Given the description of an element on the screen output the (x, y) to click on. 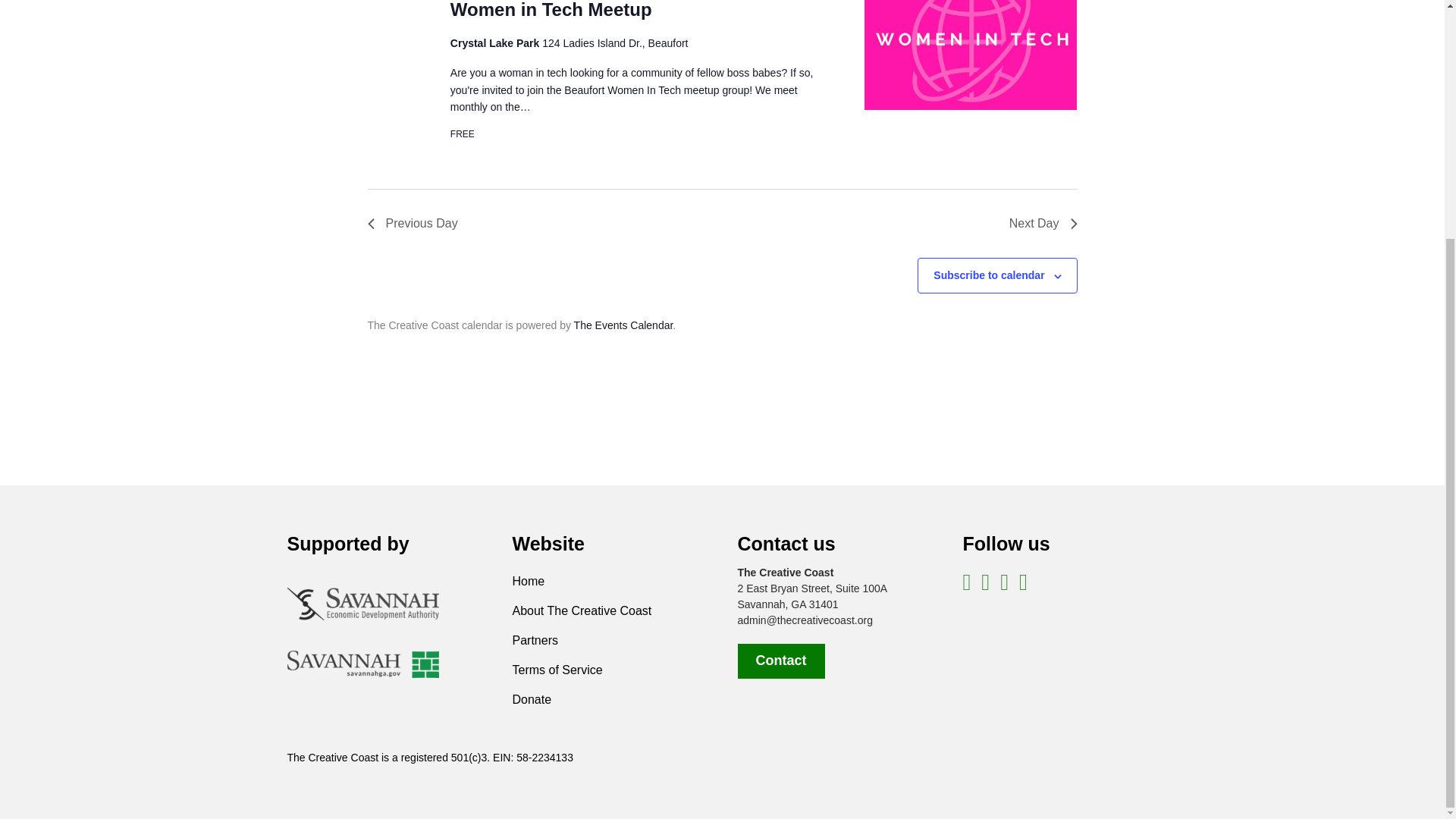
Website (548, 543)
Follow us (1005, 543)
Women in Tech Meetup (970, 54)
Contact us (785, 543)
Women in Tech Meetup (550, 10)
Next Day (1043, 223)
The Events Calendar (622, 325)
Subscribe to calendar (988, 275)
City of Savannah Logo (362, 664)
Previous Day (411, 223)
Previous Day (411, 223)
Women in Tech Meetup (550, 10)
Next Day (1043, 223)
